Given the description of an element on the screen output the (x, y) to click on. 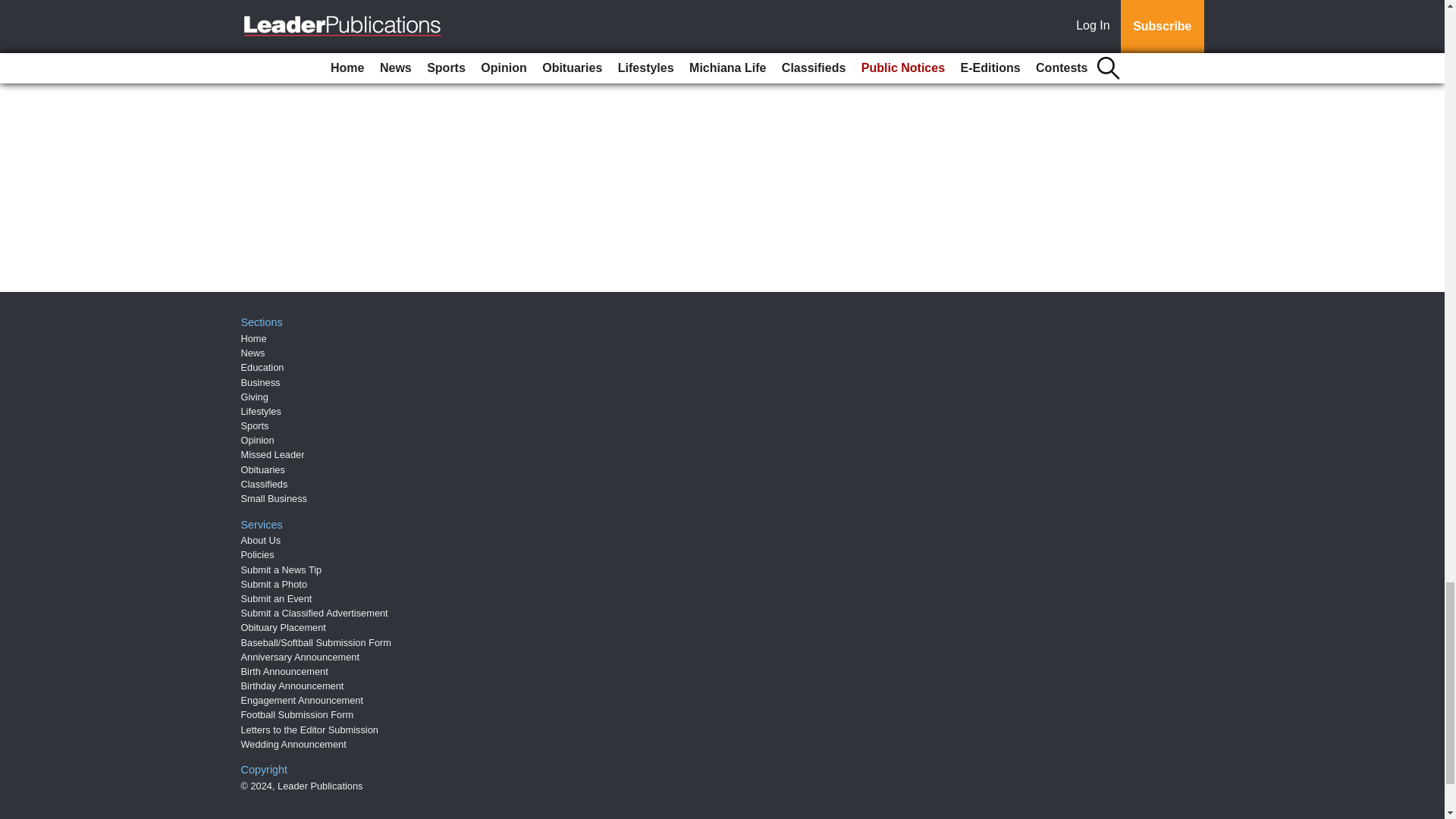
Business (261, 382)
Engagement (425, 5)
Print Article (384, 51)
Home (253, 337)
News (252, 352)
Education (262, 367)
Engagement (425, 5)
